Given the description of an element on the screen output the (x, y) to click on. 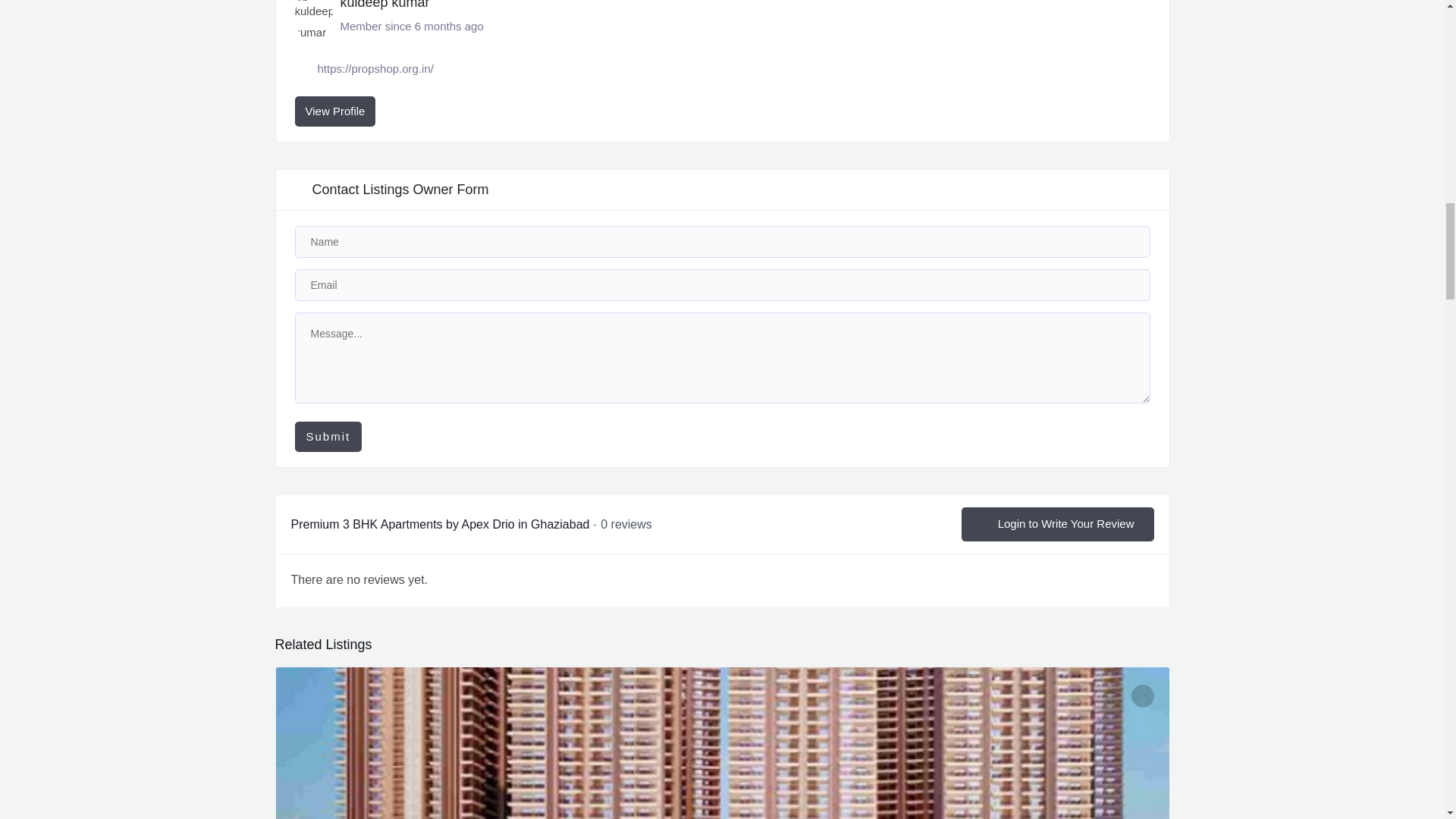
Submit (327, 436)
View Profile (334, 111)
Login to Write Your Review (1057, 523)
